Given the description of an element on the screen output the (x, y) to click on. 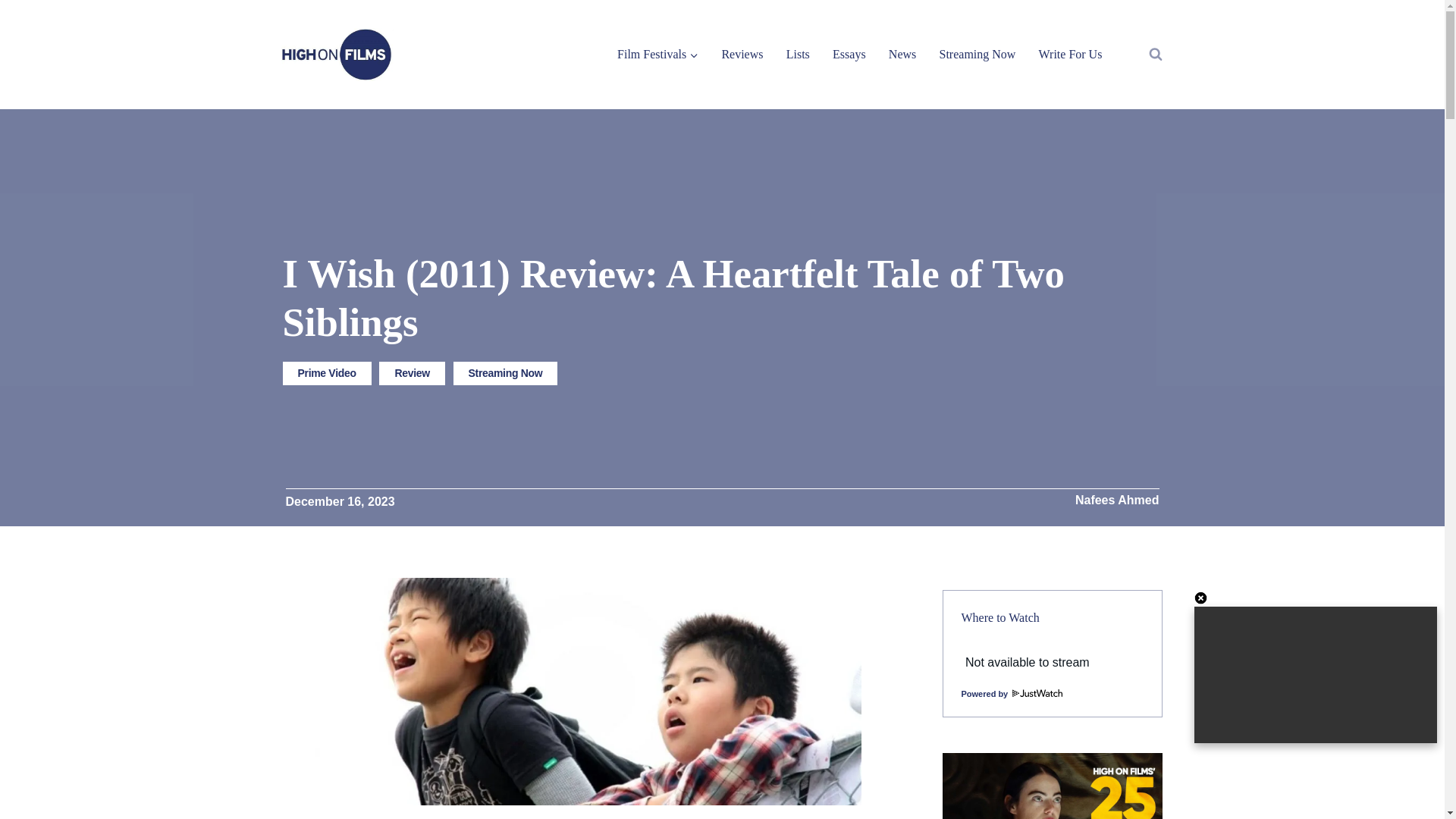
Film Festivals (657, 53)
Write For Us (1069, 53)
Essays (849, 53)
Lists (797, 53)
Streaming Now (504, 372)
Streaming Now (976, 53)
Review (411, 372)
Reviews (742, 53)
News (902, 53)
Prime Video (326, 372)
Nafees Ahmed (1116, 499)
